Given the description of an element on the screen output the (x, y) to click on. 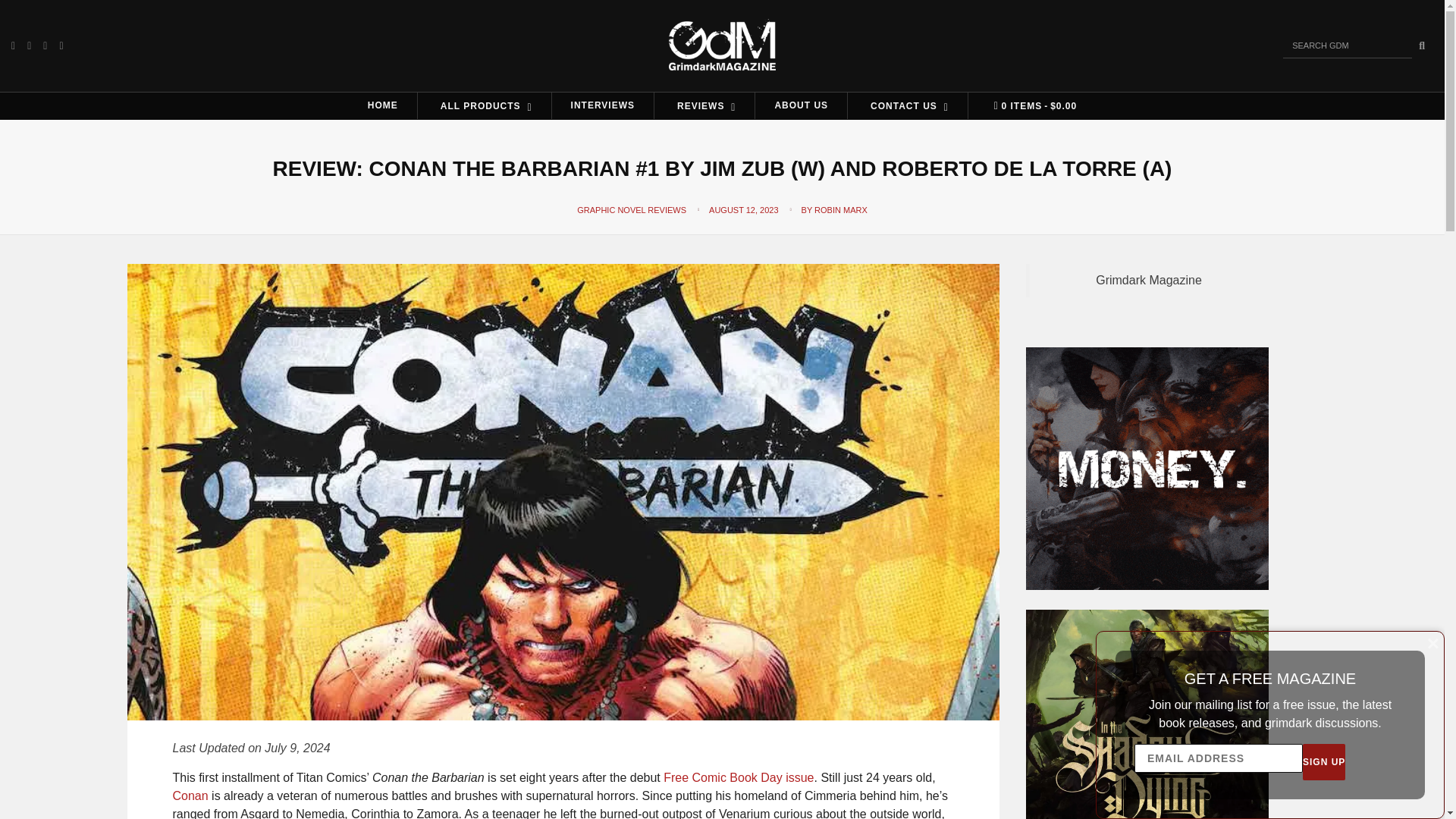
Free Comic Book Day issue (738, 777)
INTERVIEWS (602, 105)
HOME (382, 105)
ROBIN MARX (840, 209)
ALL PRODUCTS (484, 105)
GRAPHIC NOVEL REVIEWS (630, 209)
ABOUT US (801, 105)
Search (1421, 45)
REVIEWS (703, 105)
Sign up (1324, 761)
Conan (190, 795)
CONTACT US (907, 105)
Start shopping (1032, 105)
